Given the description of an element on the screen output the (x, y) to click on. 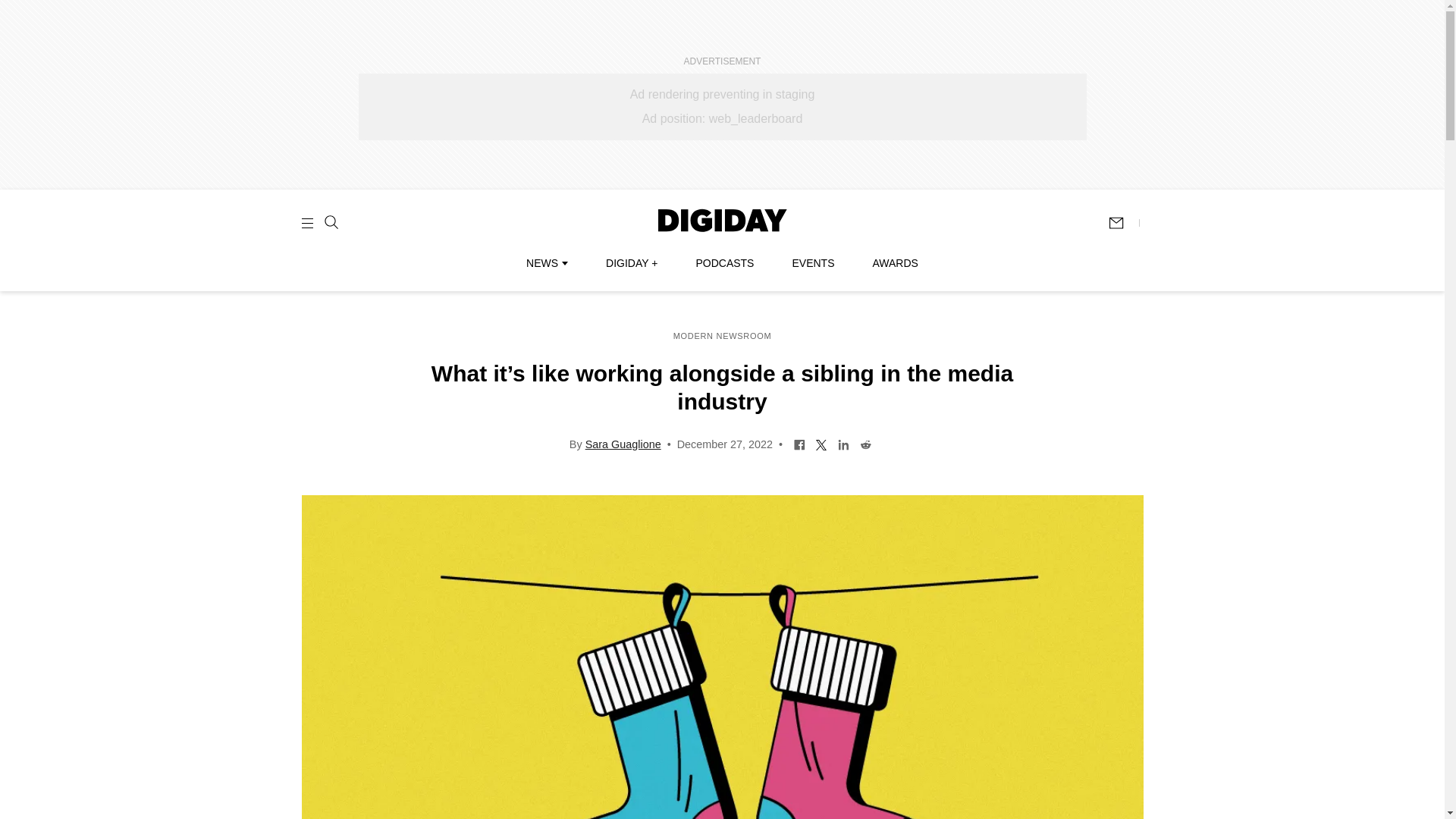
Share on Reddit (865, 443)
Share on Facebook (799, 443)
Share on LinkedIn (843, 443)
PODCASTS (725, 262)
Share on Twitter (821, 443)
Subscribe (1123, 223)
NEWS (546, 262)
AWARDS (894, 262)
EVENTS (813, 262)
